Given the description of an element on the screen output the (x, y) to click on. 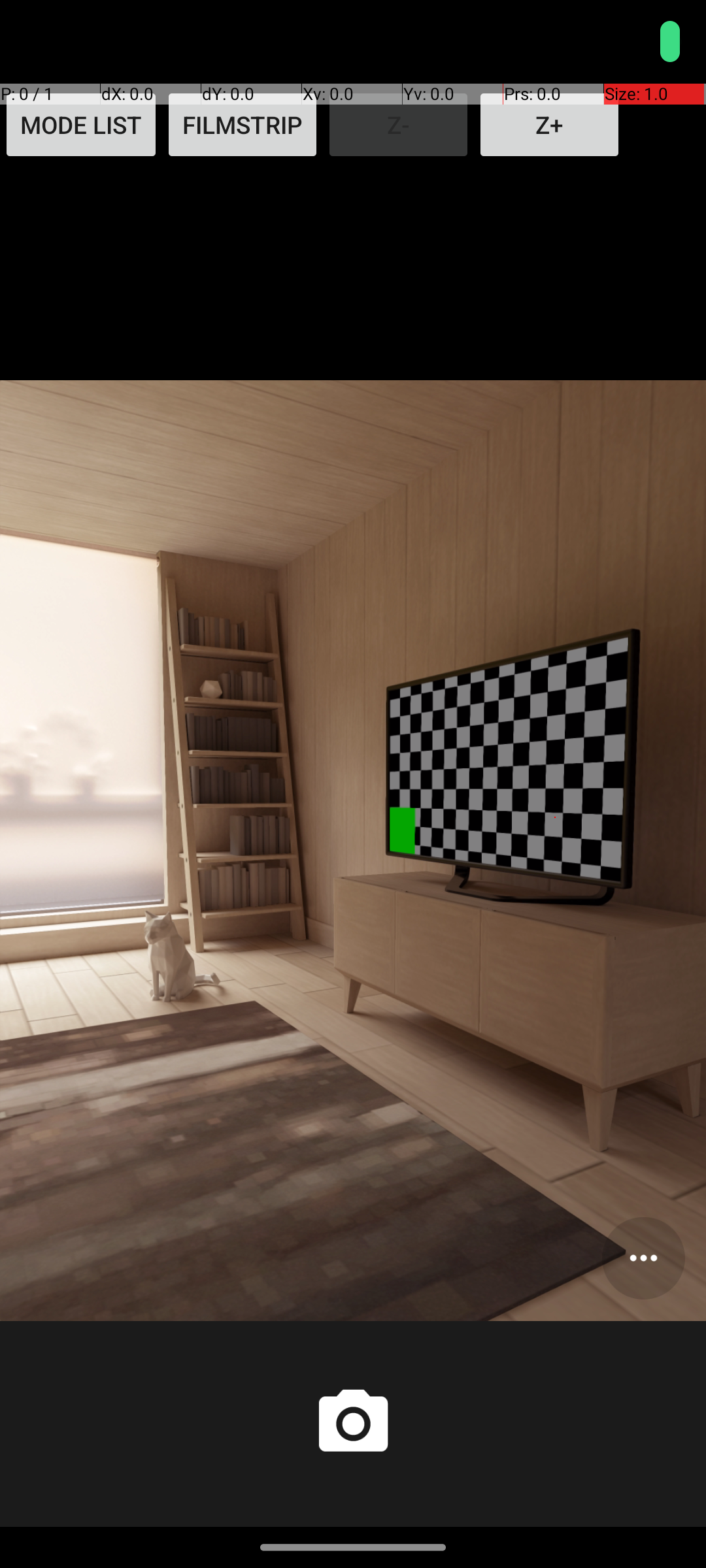
Options Element type: android.widget.LinearLayout (643, 1258)
Shutter Element type: android.widget.ImageView (353, 1423)
MODE LIST Element type: android.widget.Button (81, 124)
FILMSTRIP Element type: android.widget.Button (242, 124)
Z- Element type: android.widget.Button (397, 124)
Z+ Element type: android.widget.Button (548, 124)
Applications are using your camera. Element type: android.widget.FrameLayout (623, 41)
